Given the description of an element on the screen output the (x, y) to click on. 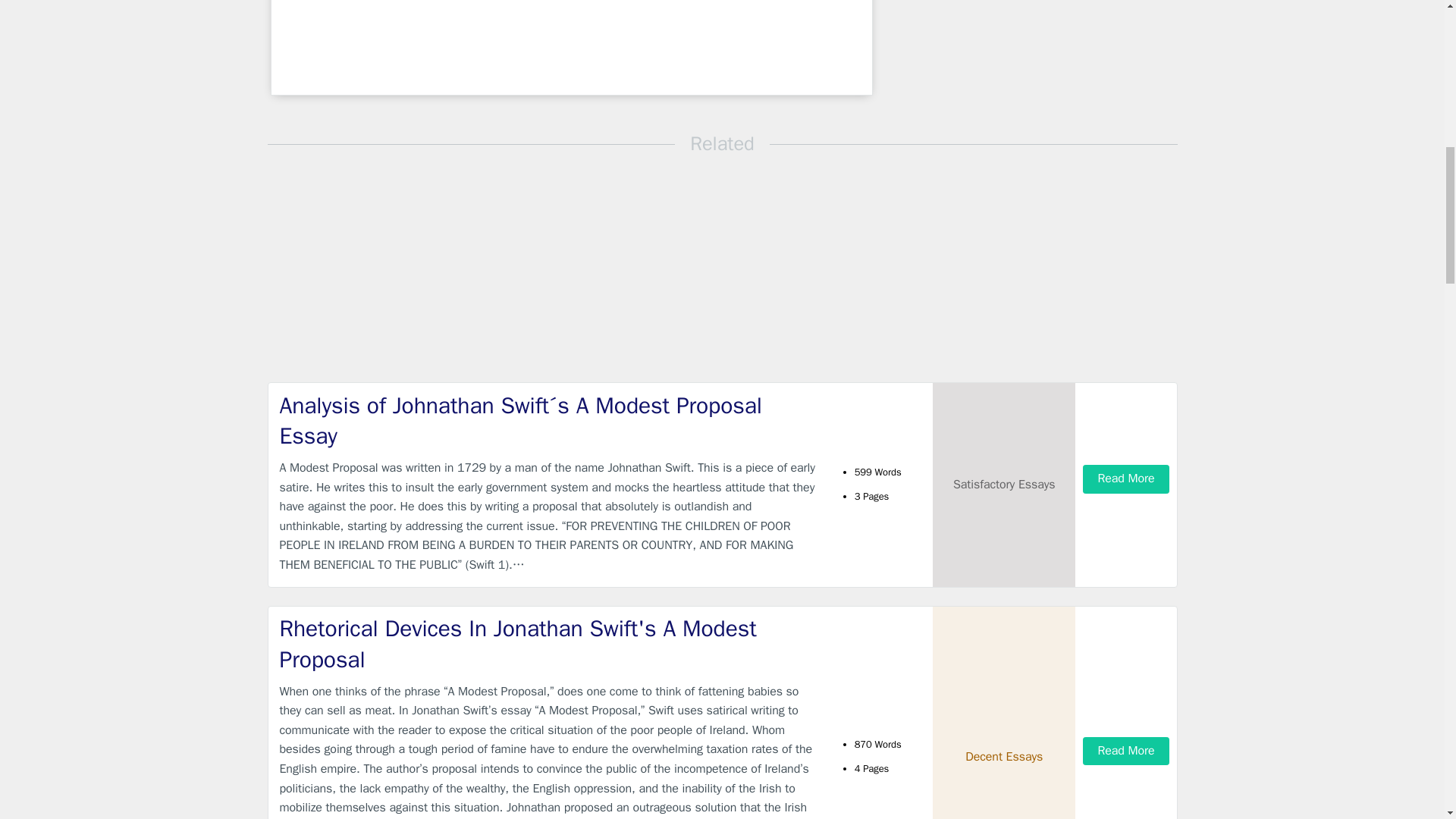
Rhetorical Devices In Jonathan Swift's A Modest Proposal (548, 643)
Read More (1126, 750)
Read More (1126, 479)
